Given the description of an element on the screen output the (x, y) to click on. 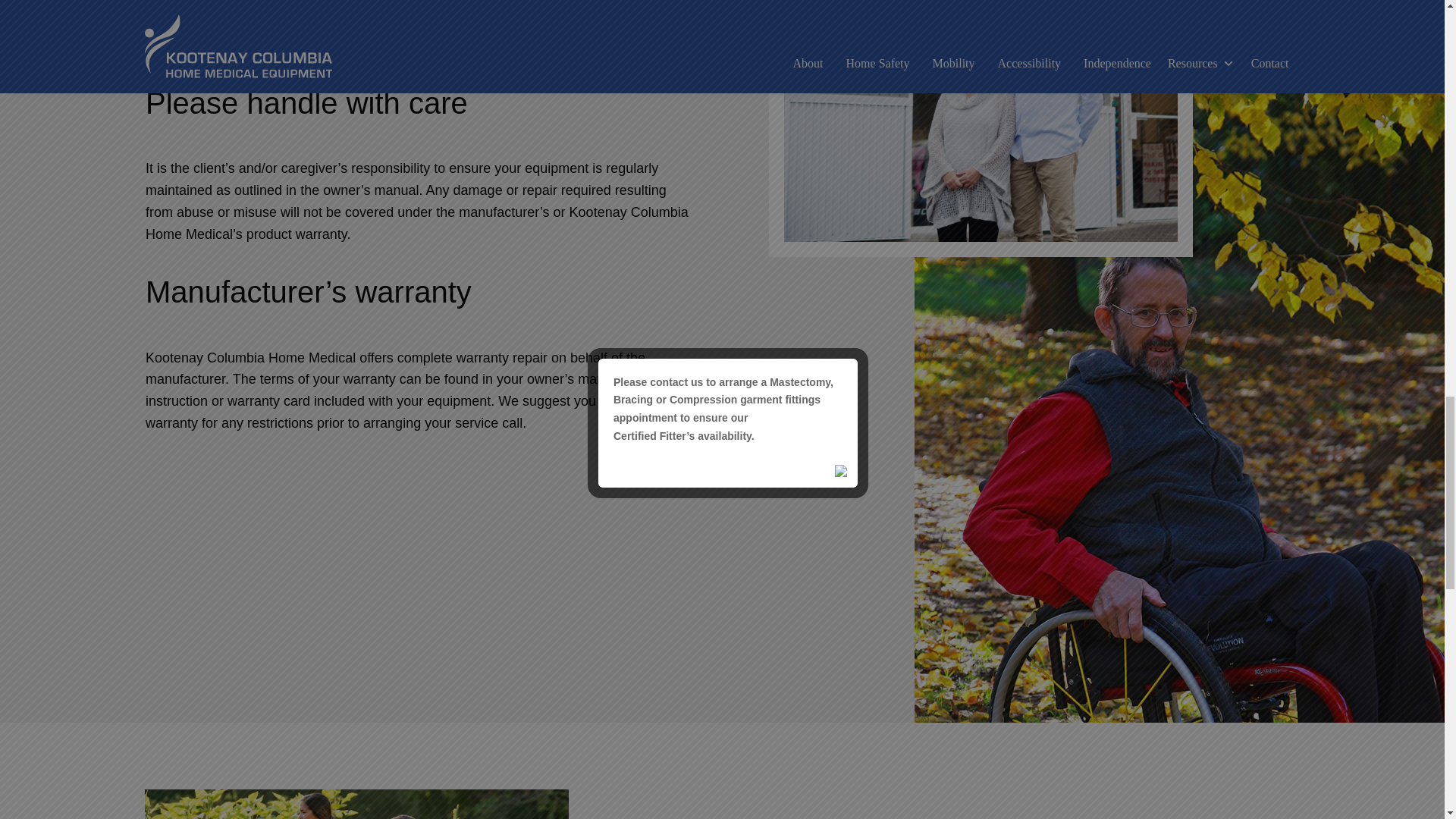
Mask Group 1 (355, 804)
KCHME-089702323 (980, 120)
